Given the description of an element on the screen output the (x, y) to click on. 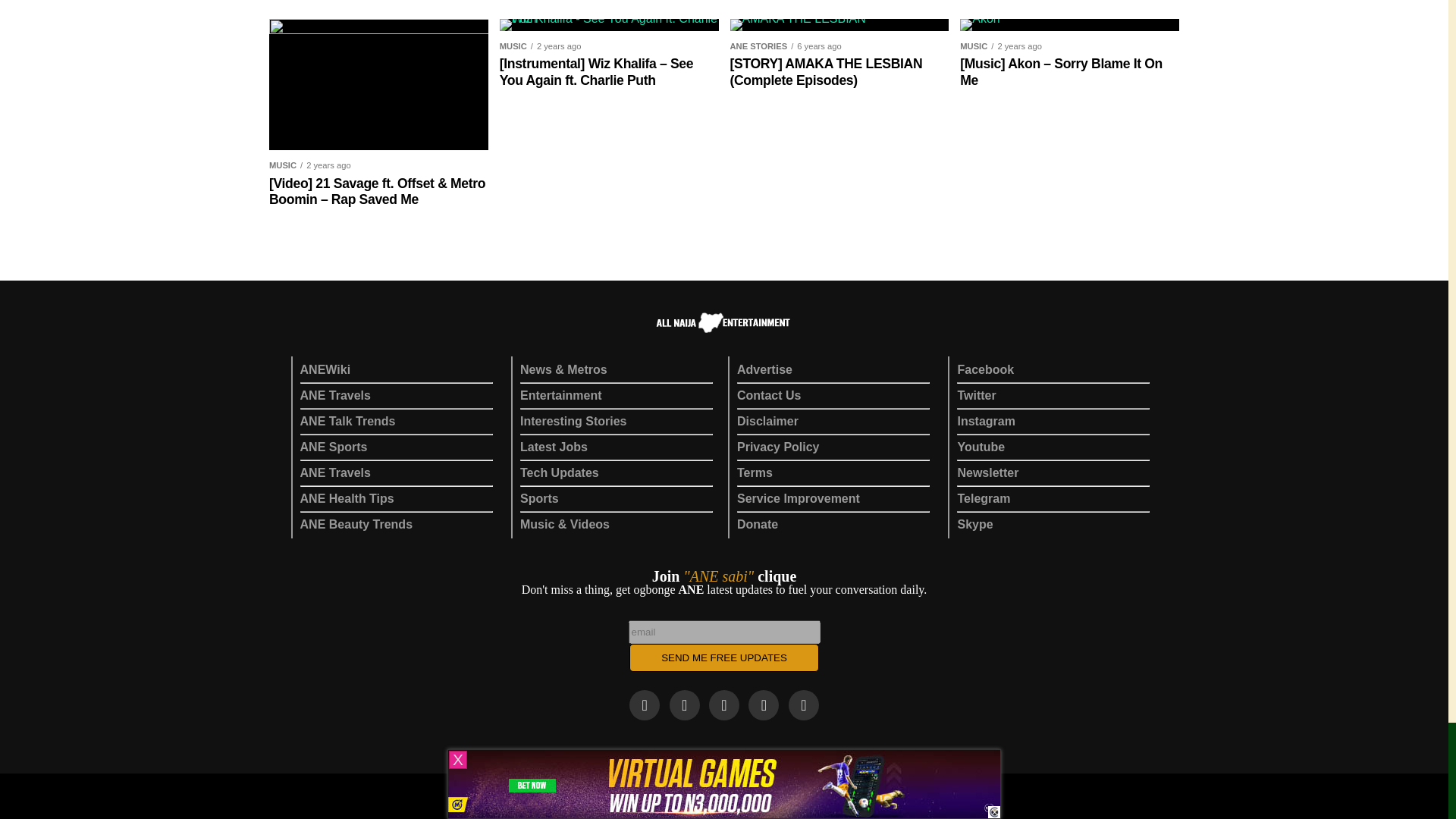
News Updates And Metros (563, 369)
Latest Music And Video Updates (564, 523)
Send Me Free Updates (723, 657)
Interesting Stories (572, 420)
Technology News And Updates (558, 472)
Advertise With Us (764, 369)
Entertainment News And Updates (560, 395)
Jobs And Globe Opportunities (553, 446)
Latest Sport Updates (539, 498)
